Given the description of an element on the screen output the (x, y) to click on. 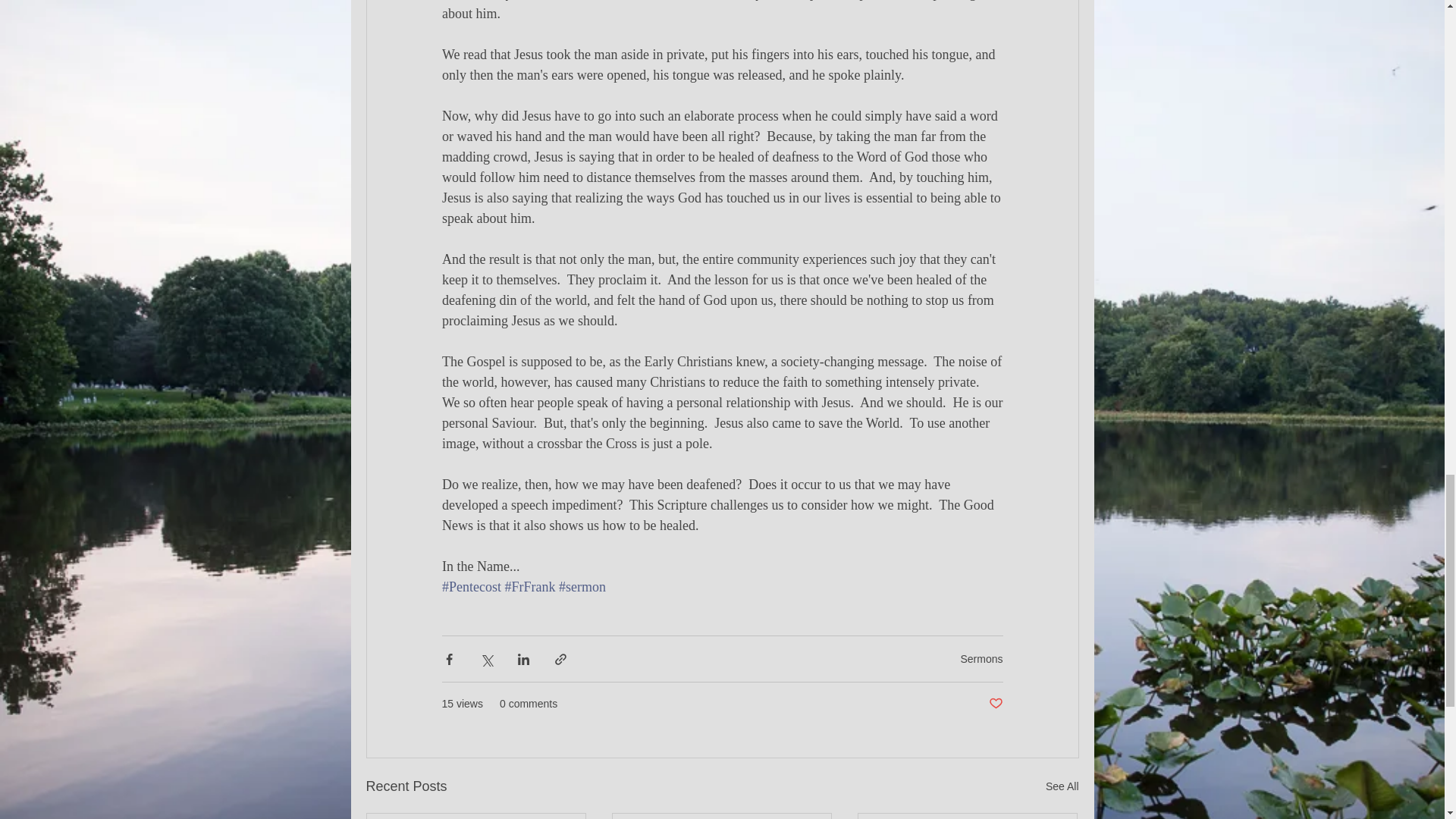
Sermons (981, 657)
See All (1061, 786)
Post not marked as liked (995, 703)
